Given the description of an element on the screen output the (x, y) to click on. 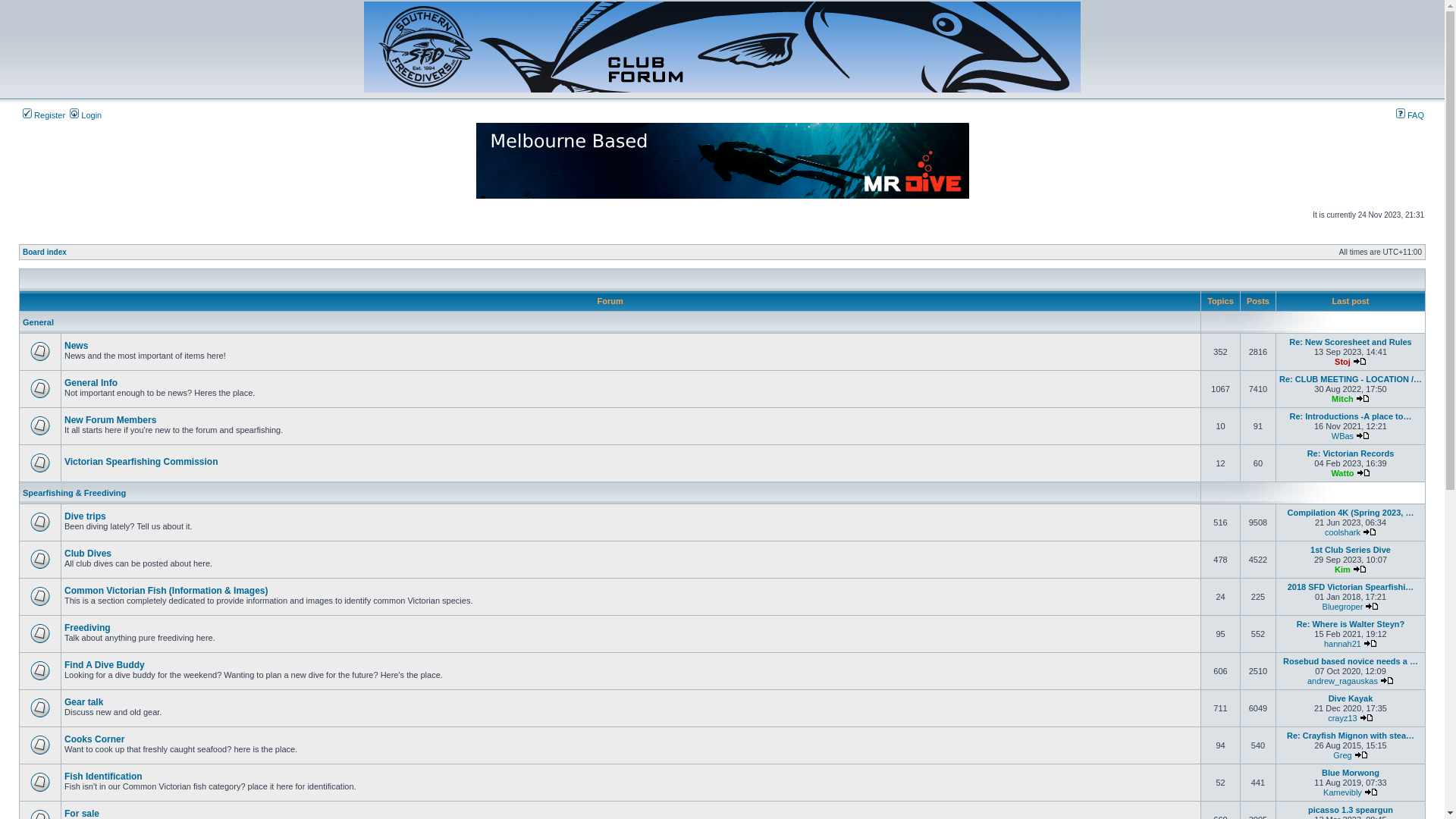
Blue Morwong Element type: text (1350, 772)
Find A Dive Buddy Element type: text (104, 664)
Mitch Element type: text (1342, 398)
Fish Identification Element type: text (103, 776)
View the latest post Element type: text (1369, 531)
View the latest post Element type: text (1366, 717)
WBas Element type: text (1342, 435)
Re: New Scoresheet and Rules Element type: text (1350, 341)
View the latest post Element type: text (1361, 754)
1st Club Series Dive Element type: text (1350, 549)
General Element type: text (37, 321)
Club Dives Element type: text (87, 553)
hannah21 Element type: text (1342, 643)
Kamevibly Element type: text (1342, 792)
View the latest post Element type: text (1386, 680)
Spearfishing & Freediving Element type: text (73, 492)
View the latest post Element type: text (1359, 361)
General Info Element type: text (90, 382)
coolshark Element type: text (1342, 531)
Dive trips Element type: text (85, 516)
Login Element type: text (85, 114)
picasso 1.3 speargun Element type: text (1350, 809)
Re: Where is Walter Steyn? Element type: text (1350, 623)
Board index Element type: text (44, 251)
Greg Element type: text (1342, 754)
Watto Element type: text (1341, 472)
Re: Victorian Records Element type: text (1350, 453)
View the latest post Element type: text (1363, 472)
Common Victorian Fish (Information & Images) Element type: text (165, 590)
Victorian Spearfishing Commission Element type: text (141, 461)
Kim Element type: text (1342, 569)
Dive Kayak Element type: text (1350, 697)
View the latest post Element type: text (1370, 643)
View the latest post Element type: text (1370, 792)
View the latest post Element type: text (1371, 606)
andrew_ragauskas Element type: text (1342, 680)
crayz13 Element type: text (1342, 717)
View the latest post Element type: text (1362, 398)
News Element type: text (75, 345)
Register Element type: text (43, 114)
View the latest post Element type: text (1362, 435)
Gear talk Element type: text (83, 701)
Freediving Element type: text (87, 627)
Stoj Element type: text (1342, 361)
New Forum Members Element type: text (110, 419)
FAQ Element type: text (1410, 114)
Cooks Corner Element type: text (94, 739)
View the latest post Element type: text (1359, 569)
Bluegroper Element type: text (1342, 606)
